Given the description of an element on the screen output the (x, y) to click on. 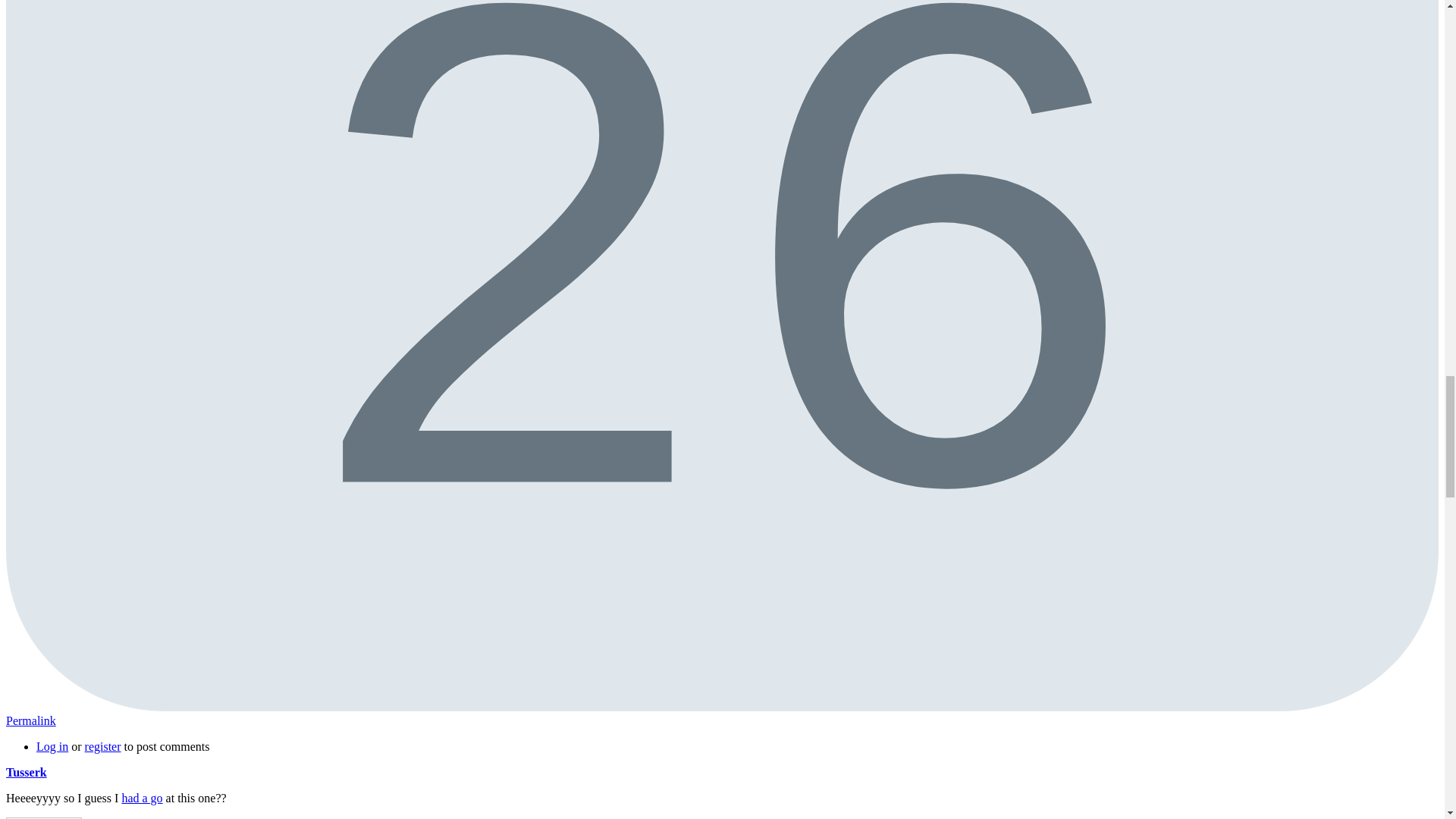
Tusserk (25, 771)
had a go (140, 797)
View user profile. (25, 771)
Permalink (30, 720)
Log in (52, 746)
register (102, 746)
